Given the description of an element on the screen output the (x, y) to click on. 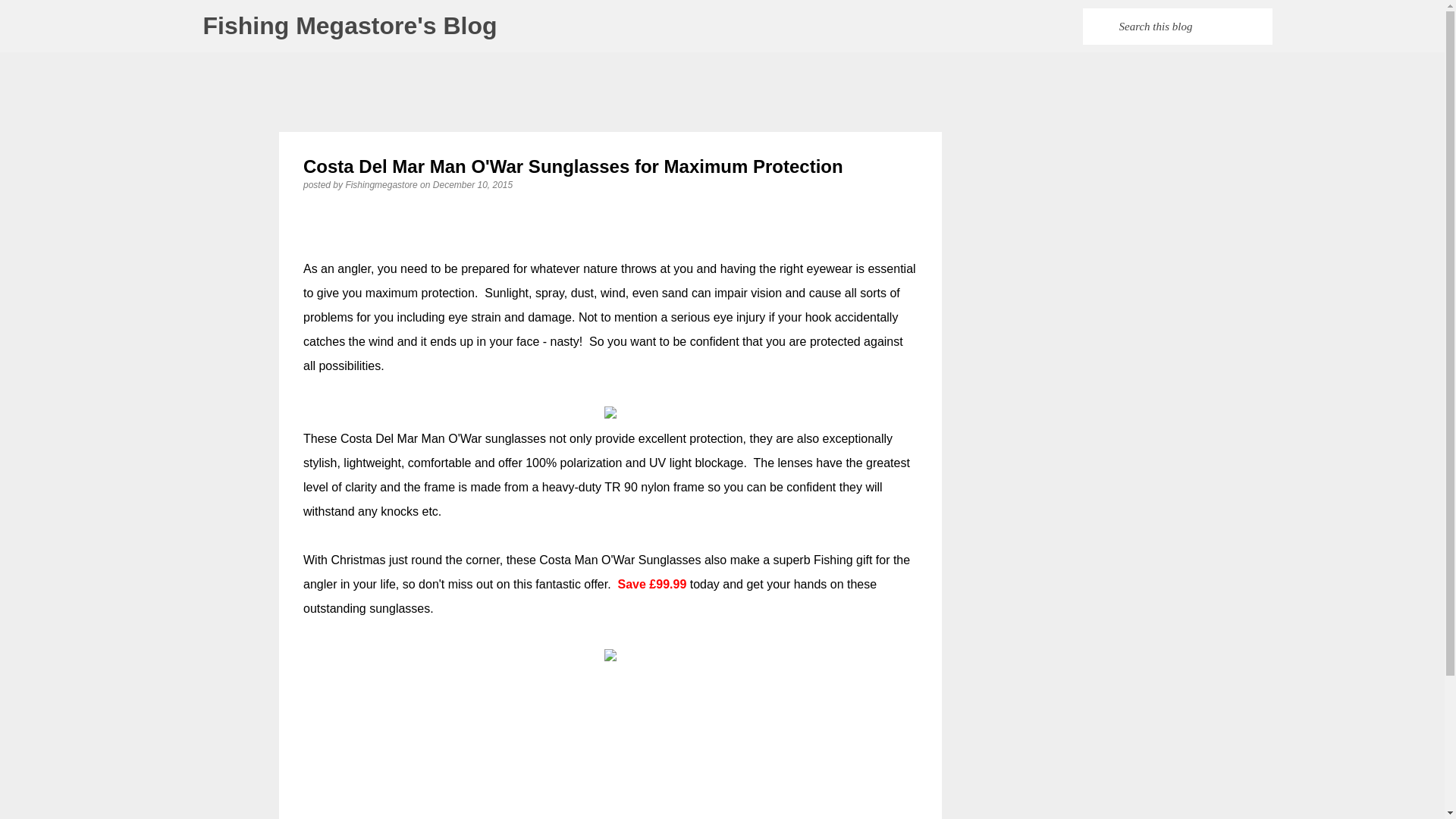
Email Post (311, 757)
author profile (382, 184)
December 10, 2015 (472, 184)
Fishing Megastore's Blog (350, 25)
permanent link (472, 184)
Fishingmegastore (382, 184)
